Given the description of an element on the screen output the (x, y) to click on. 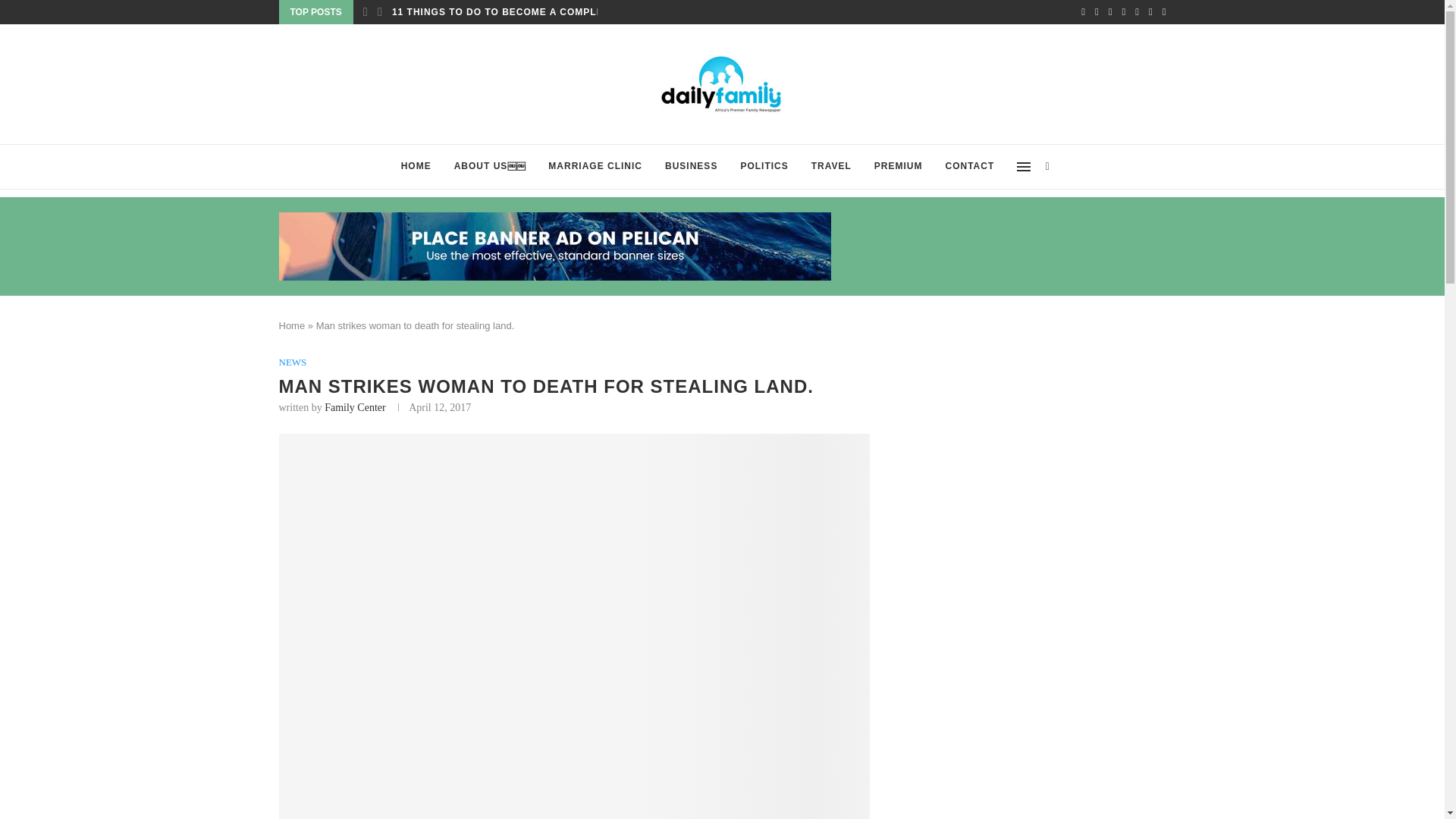
POLITICS (764, 166)
HOME (416, 166)
BUSINESS (691, 166)
Home (292, 325)
PREMIUM (898, 166)
TRAVEL (831, 166)
NEWS (293, 362)
CONTACT (970, 166)
11 THINGS TO DO TO BECOME A COMPLETE... (508, 12)
